Given the description of an element on the screen output the (x, y) to click on. 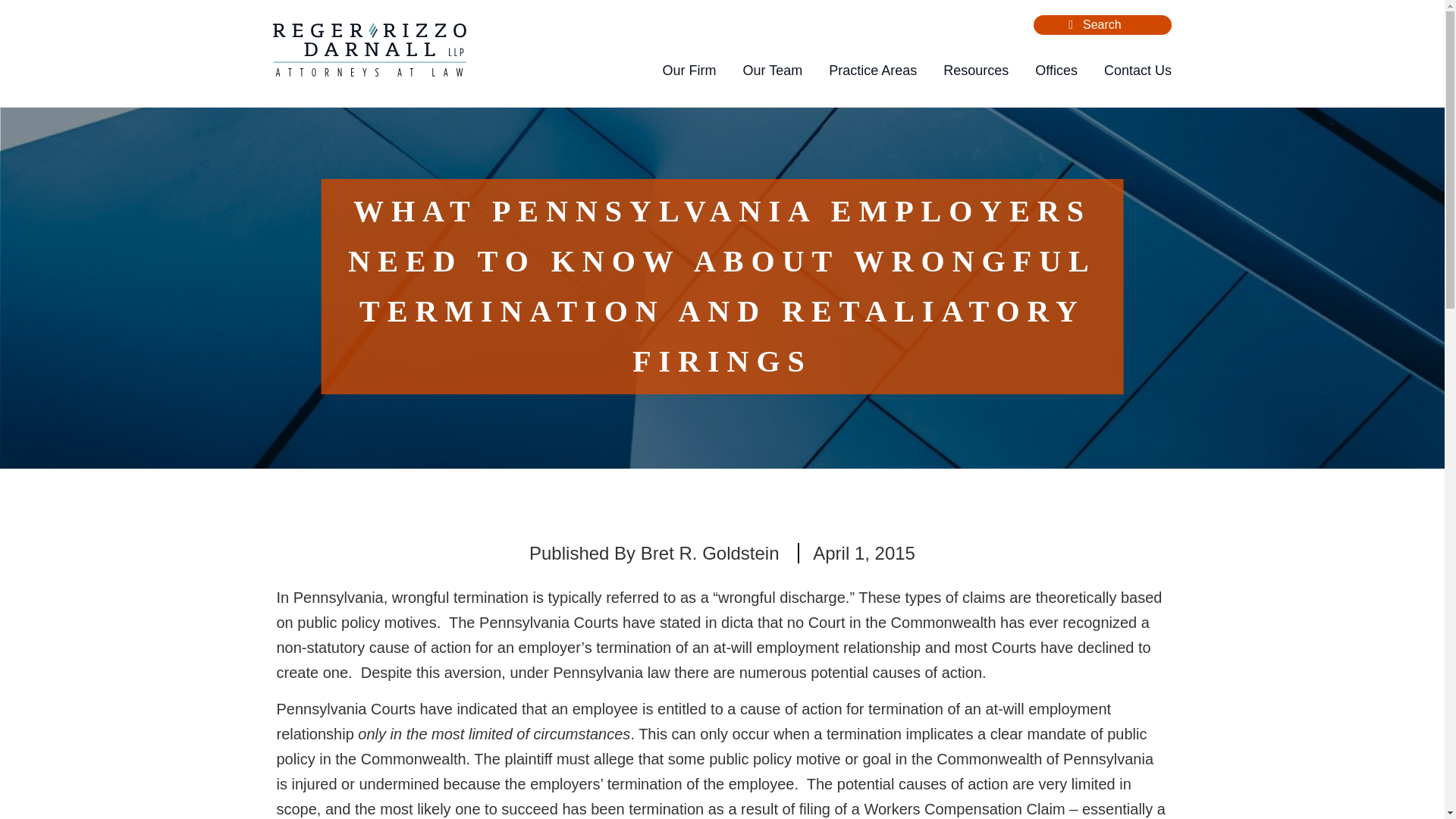
Search (1070, 24)
Practice Areas (872, 71)
Bret R. Goldstein (709, 552)
Contact Us (1137, 71)
Our Firm (689, 71)
Our Team (772, 71)
Resources (976, 71)
Offices (1056, 71)
